Given the description of an element on the screen output the (x, y) to click on. 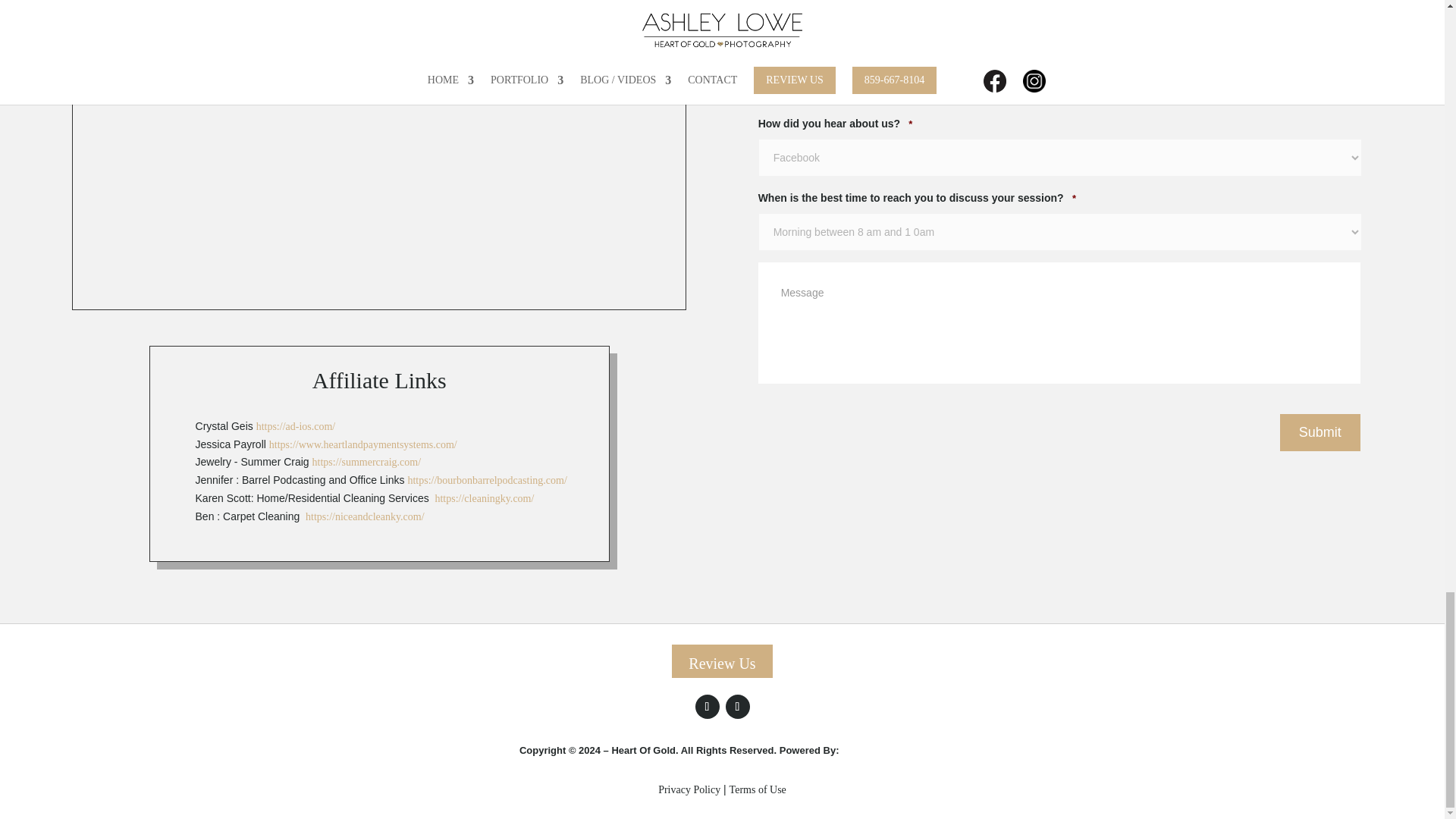
AD-IOS (882, 753)
Privacy Policy (689, 789)
Submit (1319, 432)
Follow on Instagram (737, 706)
Follow on Facebook (706, 706)
Review Us (721, 661)
Terms of Use (757, 789)
Submit (1319, 432)
